Given the description of an element on the screen output the (x, y) to click on. 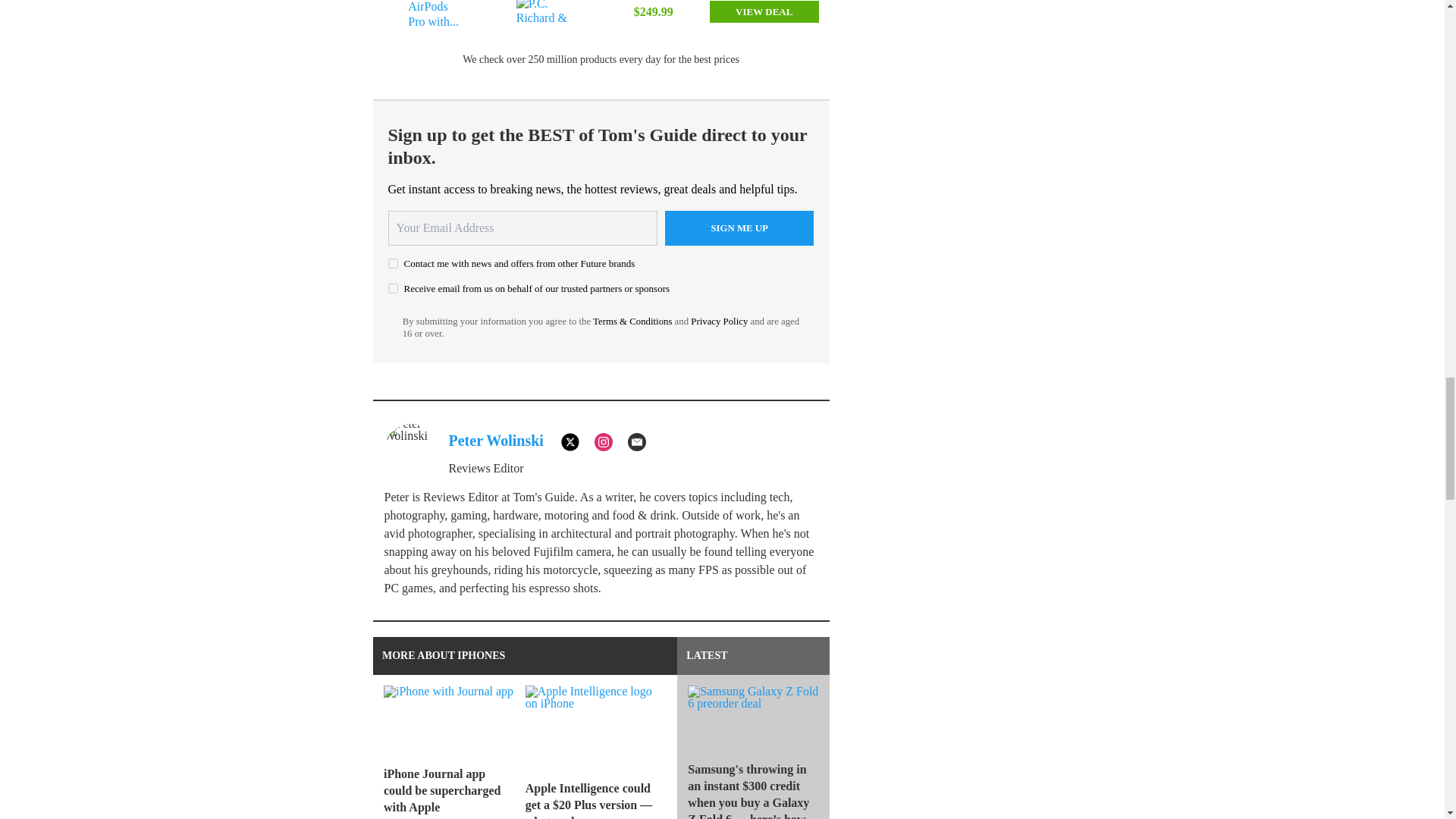
Apple AirPods Pro with... (437, 18)
on (392, 263)
on (392, 288)
Sign me up (739, 227)
